Given the description of an element on the screen output the (x, y) to click on. 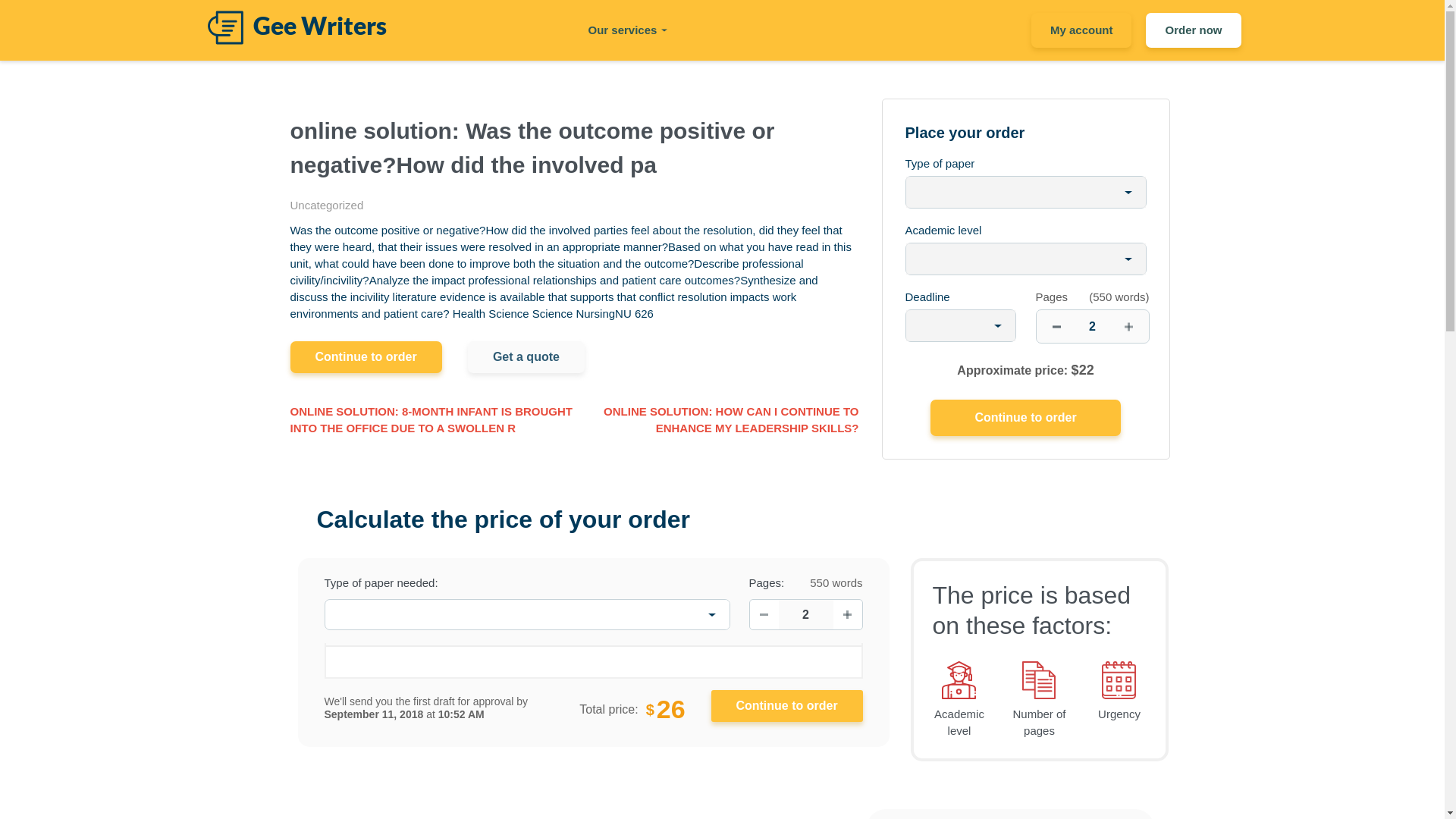
2 (804, 614)
Continue to order (787, 705)
Continue to order (787, 705)
Continue to order (365, 357)
2 (1091, 326)
Decrease (763, 614)
Uncategorized (325, 205)
My account (1081, 30)
Continue to Order (787, 705)
Get a quote (526, 357)
Continue to order (1024, 417)
Order now (1192, 30)
Continue to order (1024, 417)
